Given the description of an element on the screen output the (x, y) to click on. 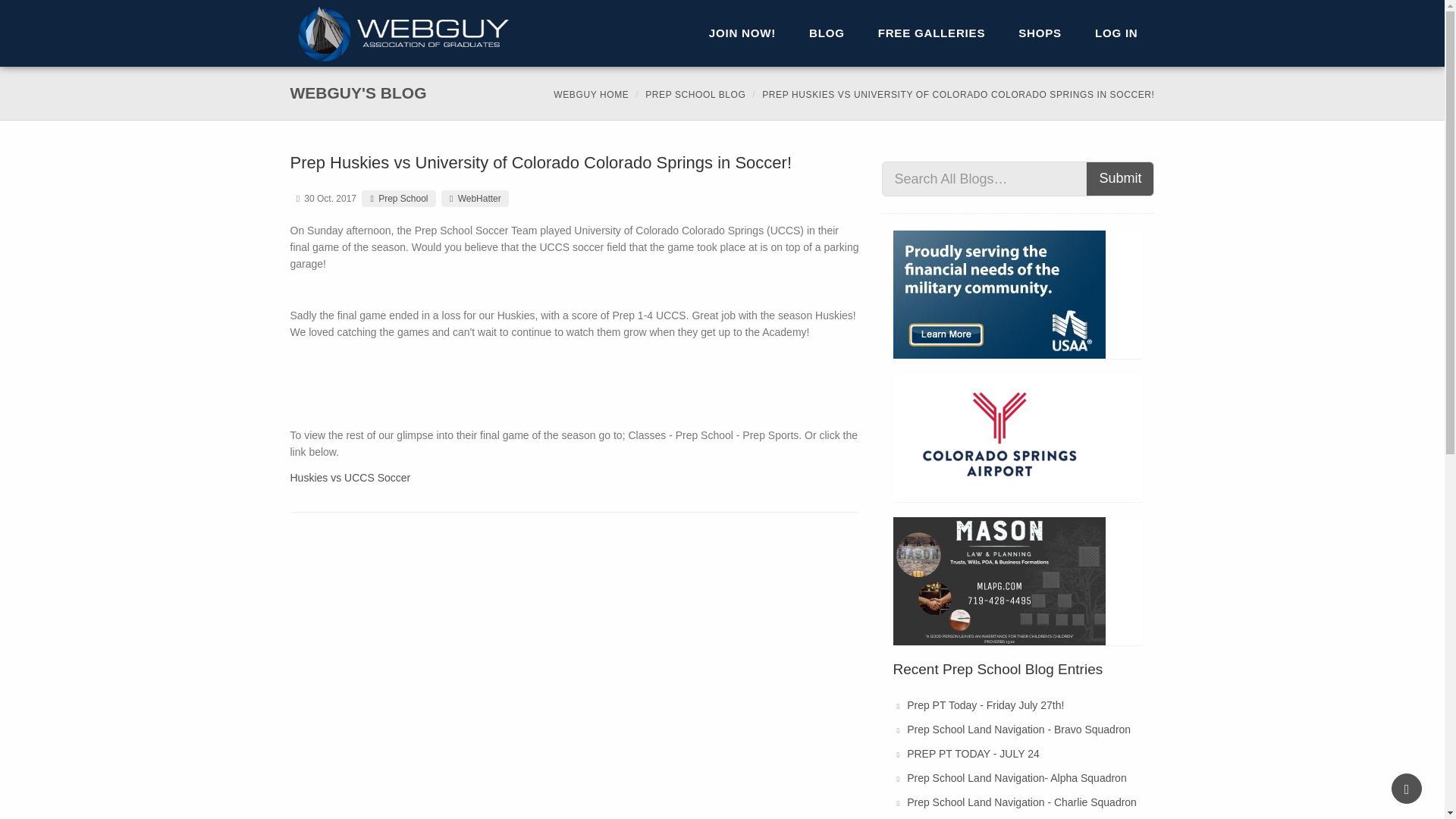
SHOPS (1039, 33)
Prep School Land Navigation - Charlie Squadron (1022, 802)
LOG IN (1116, 33)
WebHatter (474, 198)
Prep School Land Navigation - Bravo Squadron (1019, 729)
PREP PT TODAY - JULY 24 (973, 753)
WEBGUY HOME (590, 94)
Submit (1120, 178)
Prep School (398, 198)
JOIN NOW! (721, 33)
PREP SCHOOL BLOG (742, 33)
FREE GALLERIES (695, 94)
Huskies vs UCCS Soccer (932, 33)
BLOG (349, 477)
